Given the description of an element on the screen output the (x, y) to click on. 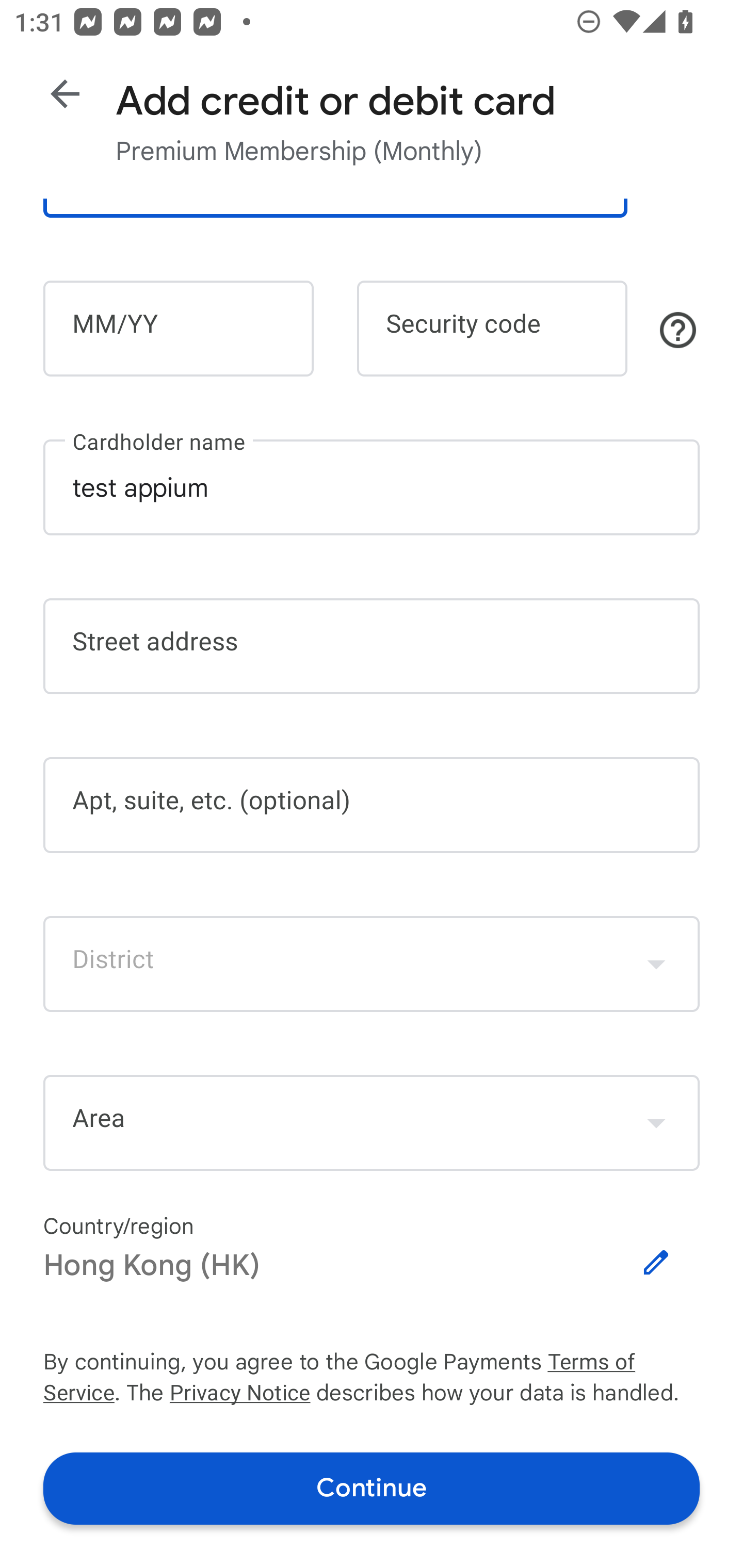
Back (64, 93)
Expiration date, 2 digit month, 2 digit year (178, 328)
Security code (492, 328)
Security code help (677, 329)
test appium (371, 486)
Street address (371, 646)
Apt, suite, etc. (optional) (371, 804)
District (371, 963)
Show dropdown menu (655, 963)
Area (371, 1123)
Show dropdown menu (655, 1122)
country edit button (655, 1262)
Terms of Service (623, 1362)
Privacy Notice (239, 1394)
Continue (371, 1487)
